Given the description of an element on the screen output the (x, y) to click on. 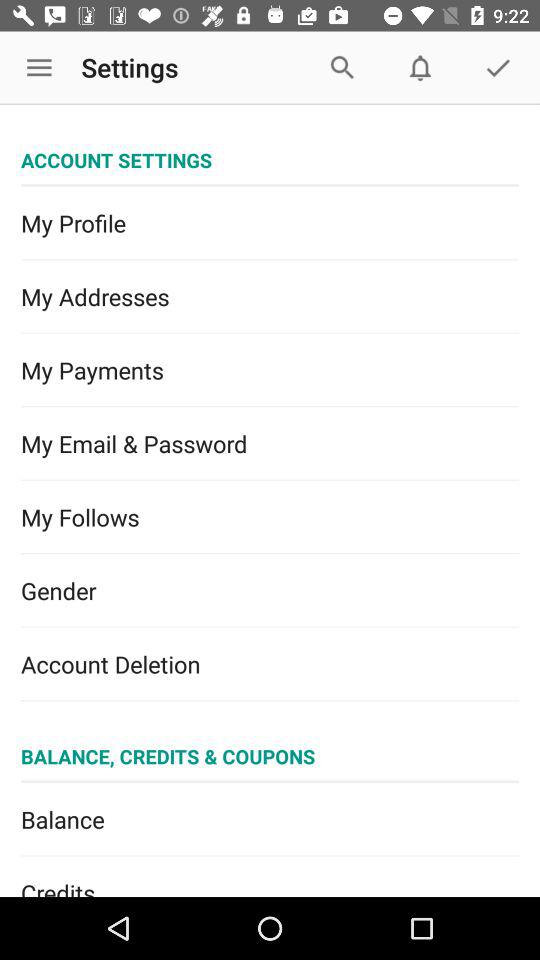
turn on my profile item (270, 223)
